Given the description of an element on the screen output the (x, y) to click on. 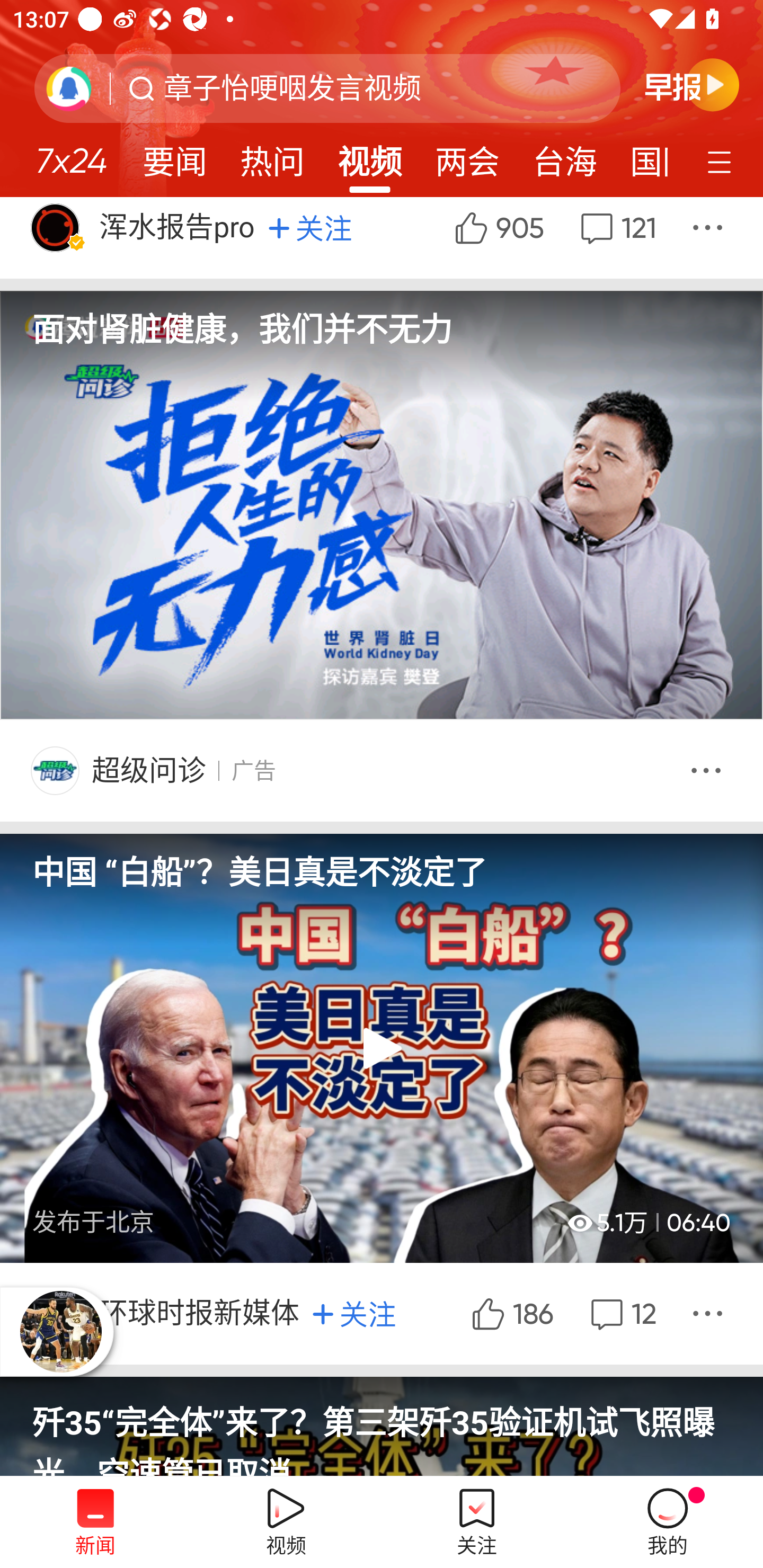
早晚报 (691, 84)
刷新 (68, 88)
章子怡哽咽发言视频 (292, 88)
7x24 (70, 154)
要闻 (174, 155)
热问 (272, 155)
视频 (369, 155)
两会 (466, 155)
台海 (564, 155)
 定制频道 (721, 160)
905赞 (497, 238)
评论  121 (616, 238)
分享  (709, 238)
浑水报告pro (178, 227)
关注 (309, 227)
面对肾脏健康，我们并不无力 (381, 345)
 不感兴趣 (708, 770)
超级问诊 (148, 770)
广告 (253, 770)
播放,中国 “白船”？美日真是不淡定了 发布于北京  5.1万 06:40 (381, 1048)
中国 “白船”？美日真是不淡定了 (381, 863)
186赞 (510, 1313)
评论  12 (621, 1313)
分享  (709, 1313)
环球时报新媒体 (200, 1312)
播放器 (60, 1331)
关注 (353, 1313)
